Given the description of an element on the screen output the (x, y) to click on. 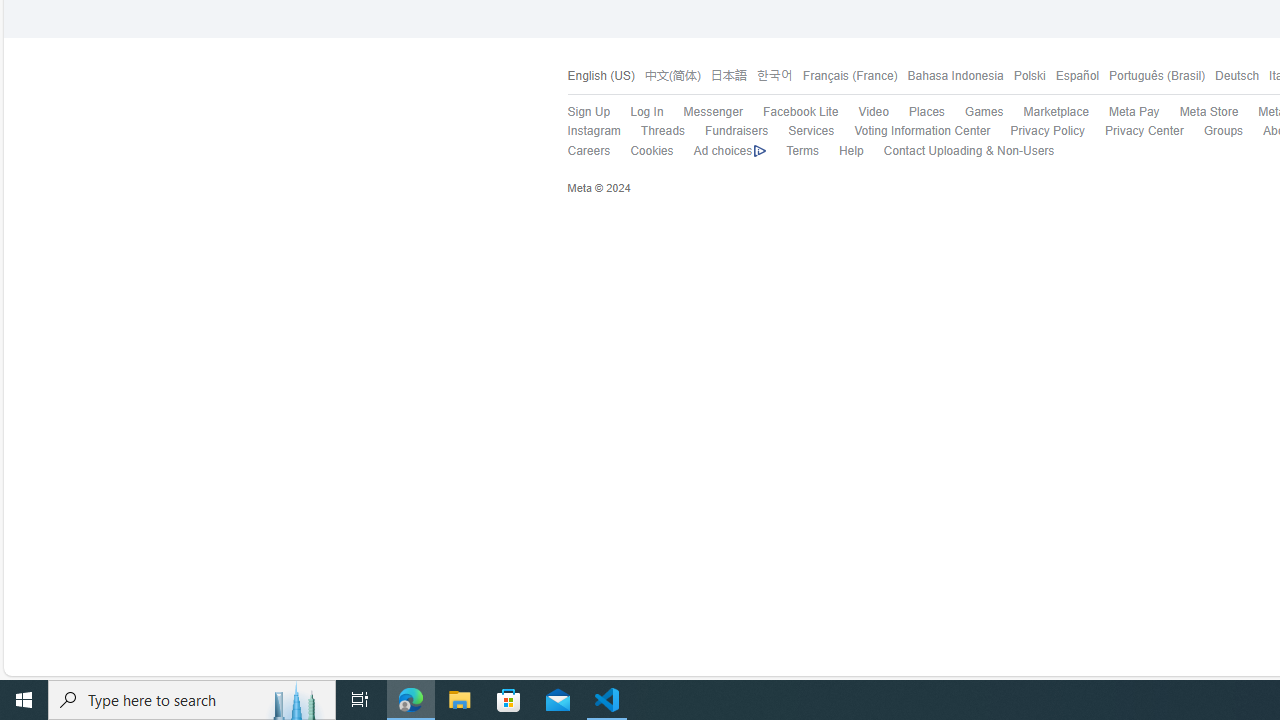
Games (983, 112)
Facebook Lite (799, 112)
Help (840, 151)
Meta Pay (1133, 112)
Fundraisers (736, 130)
Log In (637, 112)
Terms (802, 150)
English (US) (600, 75)
Places (916, 112)
Threads (651, 131)
Careers (578, 151)
Polski (1028, 76)
Privacy Policy (1047, 130)
Contact Uploading & Non-Users (968, 150)
